Given the description of an element on the screen output the (x, y) to click on. 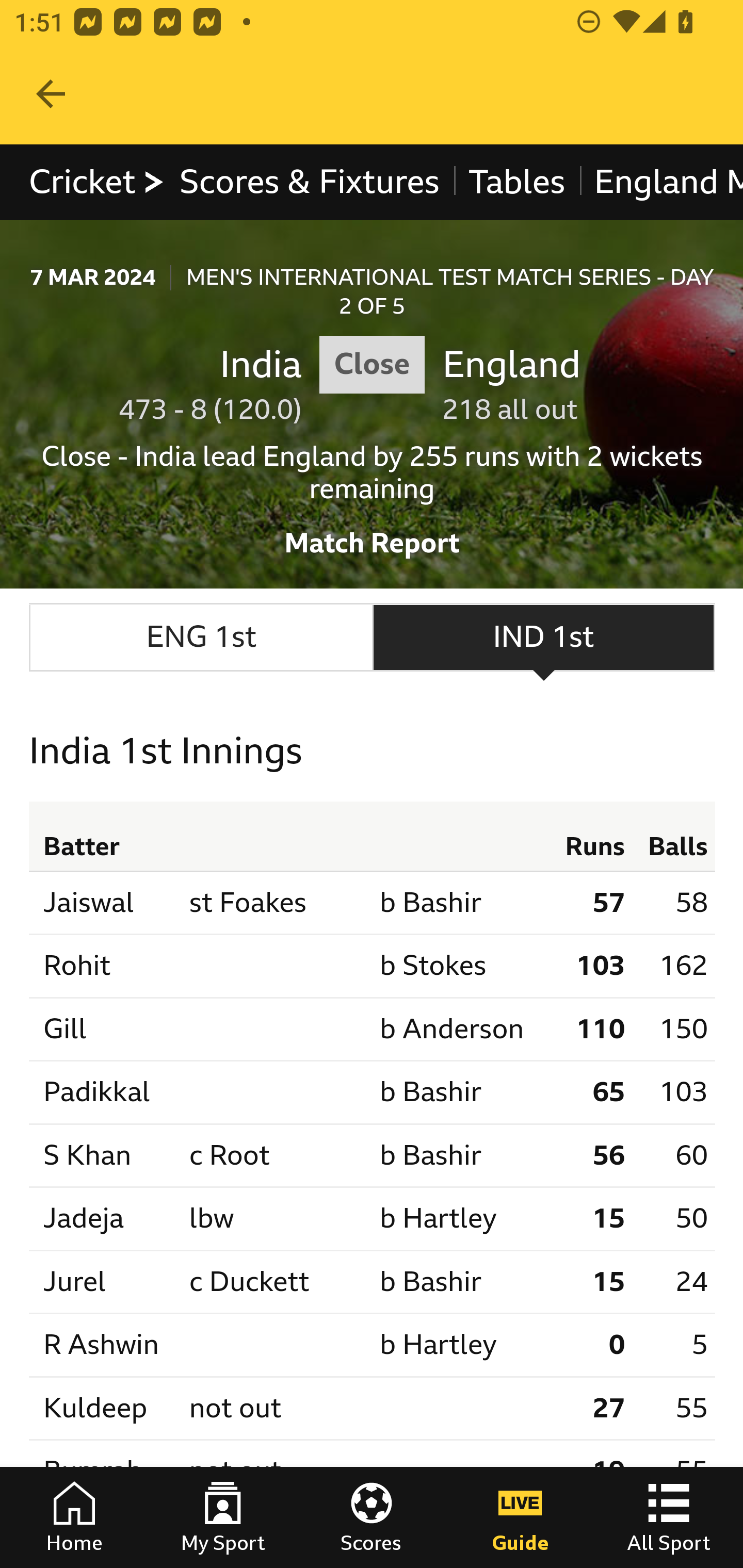
Navigate up (50, 93)
Cricket  (97, 181)
Scores & Fixtures (309, 181)
Tables (517, 181)
England Men (660, 181)
Match Report (372, 536)
ENG 1st (200, 637)
IND 1st (544, 637)
Home (74, 1517)
My Sport (222, 1517)
Scores (371, 1517)
All Sport (668, 1517)
